Given the description of an element on the screen output the (x, y) to click on. 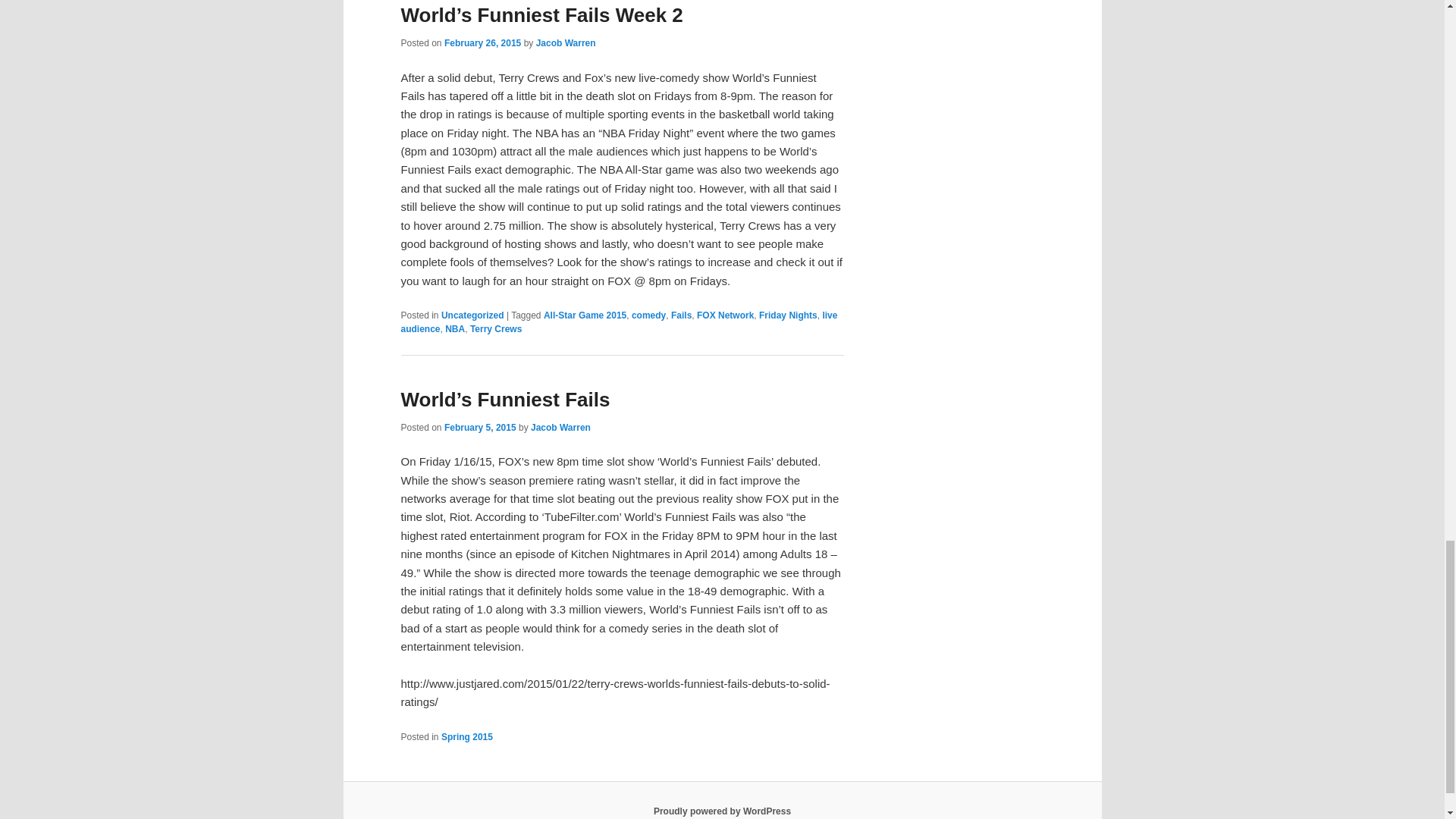
4:05 pm (482, 42)
4:05 pm (480, 427)
View all posts by Jacob Warren (565, 42)
View all posts by Jacob Warren (561, 427)
Semantic Personal Publishing Platform (721, 810)
